Given the description of an element on the screen output the (x, y) to click on. 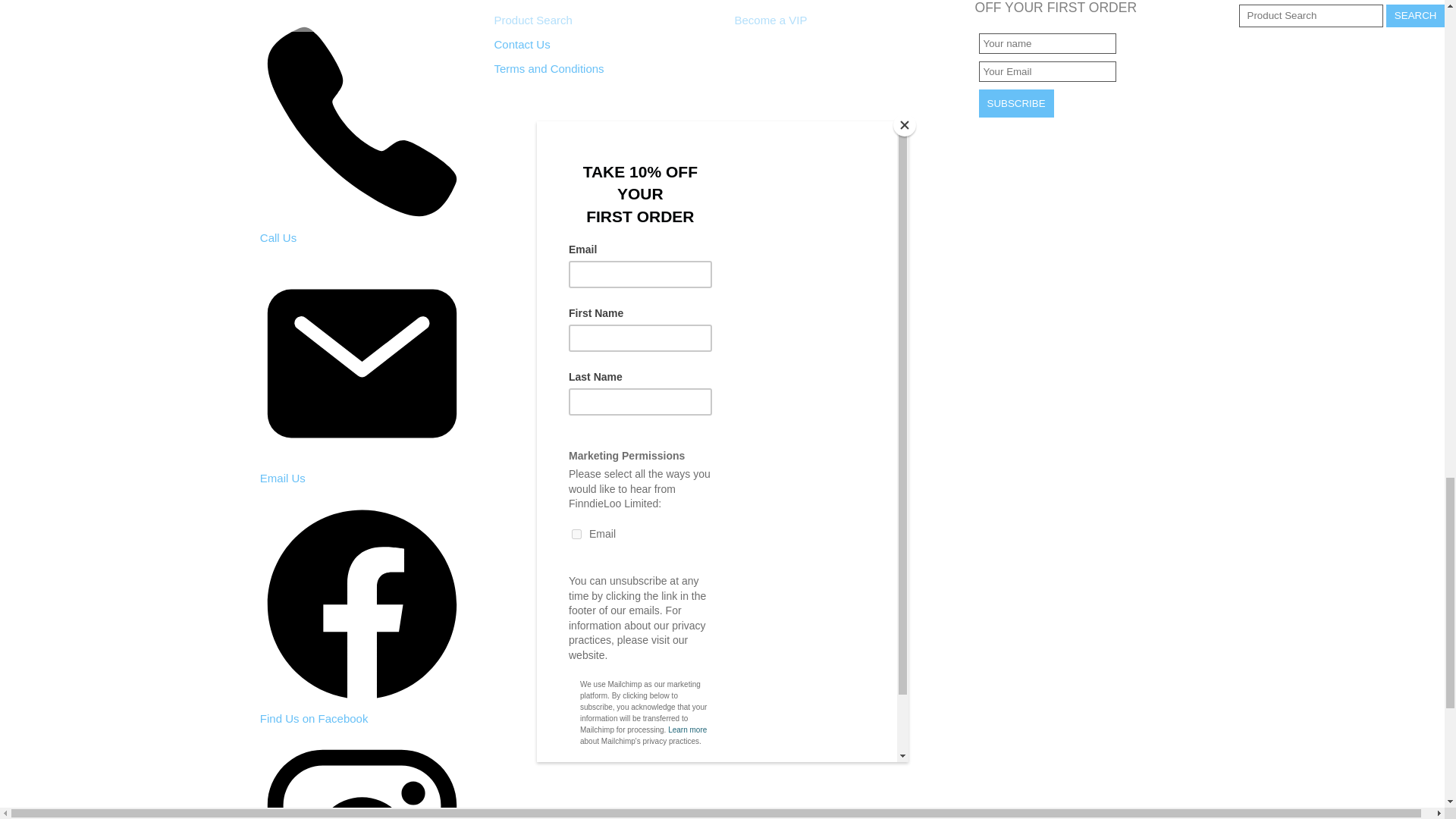
Subscribe (1015, 103)
Find Finndieloo on Facebook (314, 717)
Contact Us (522, 43)
